Given the description of an element on the screen output the (x, y) to click on. 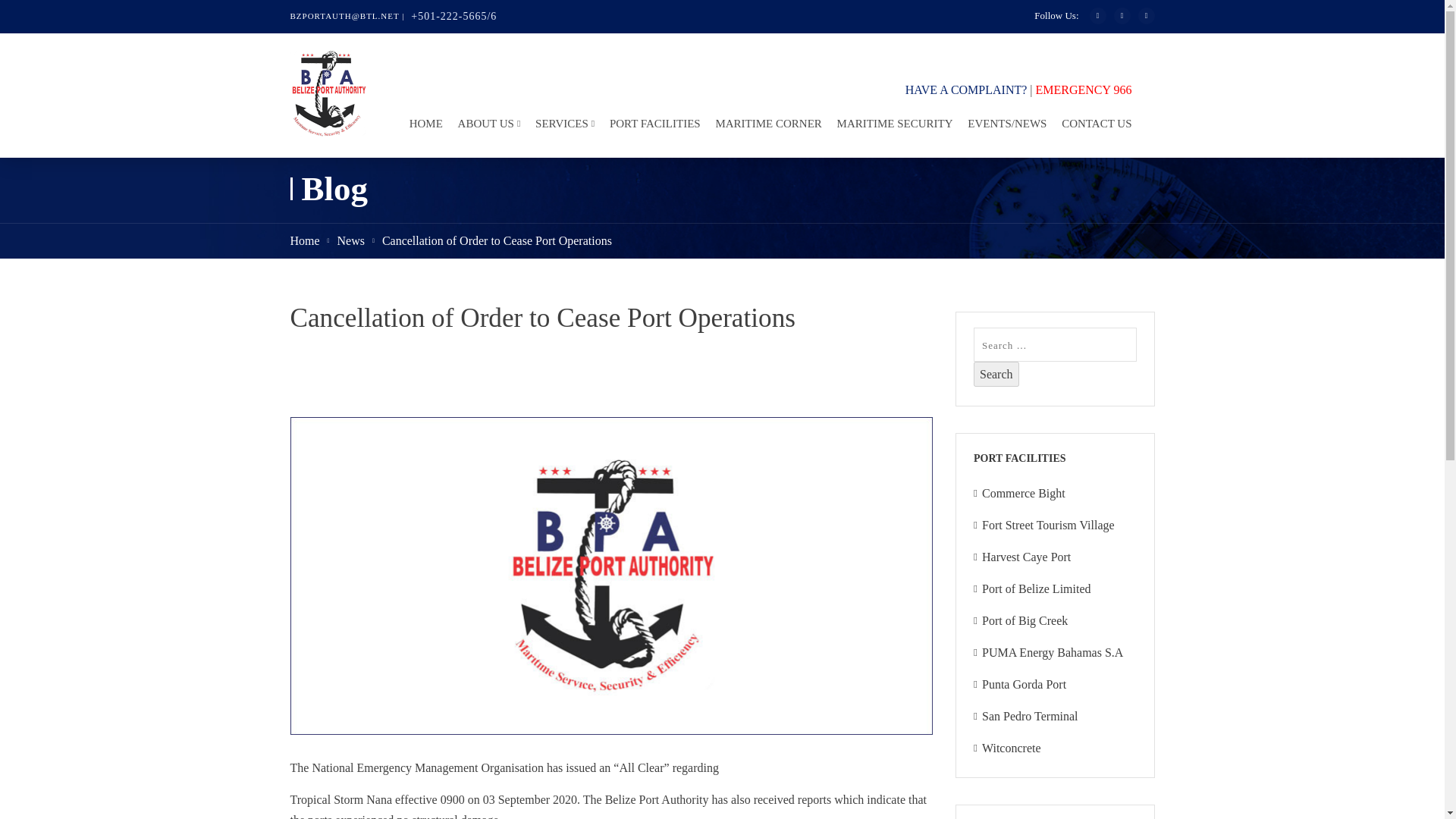
Search (996, 373)
MARITIME CORNER (763, 127)
Fort Street Tourism Village (1048, 524)
Search (996, 373)
ABOUT US (485, 127)
SERVICES (560, 127)
Harvest Caye Port (1025, 556)
Home (303, 240)
Port of Belize Limited (1035, 588)
HAVE A COMPLAINT? (966, 89)
